Given the description of an element on the screen output the (x, y) to click on. 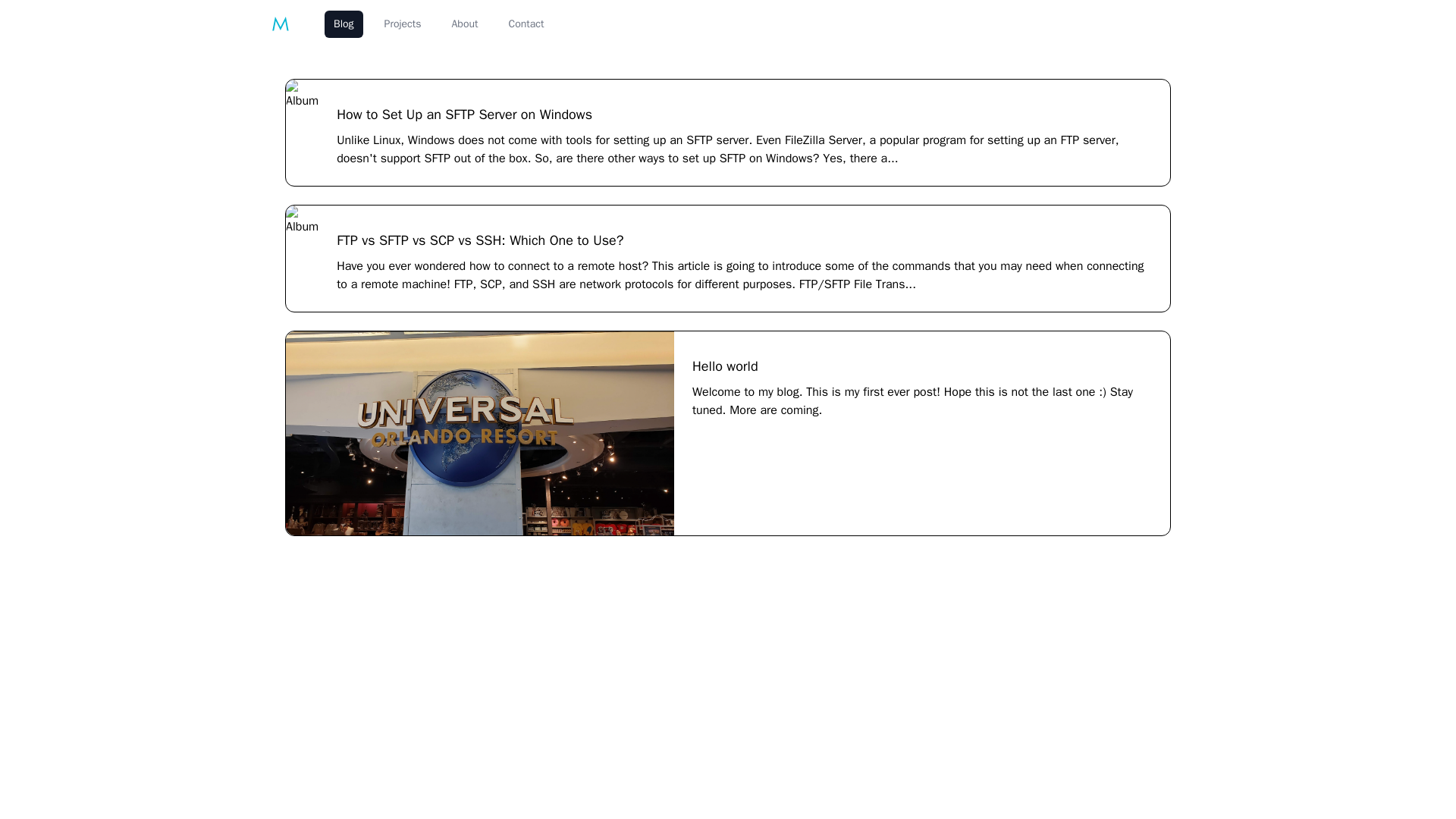
Projects (402, 23)
Blog (343, 23)
Contact (526, 23)
About (464, 23)
